Given the description of an element on the screen output the (x, y) to click on. 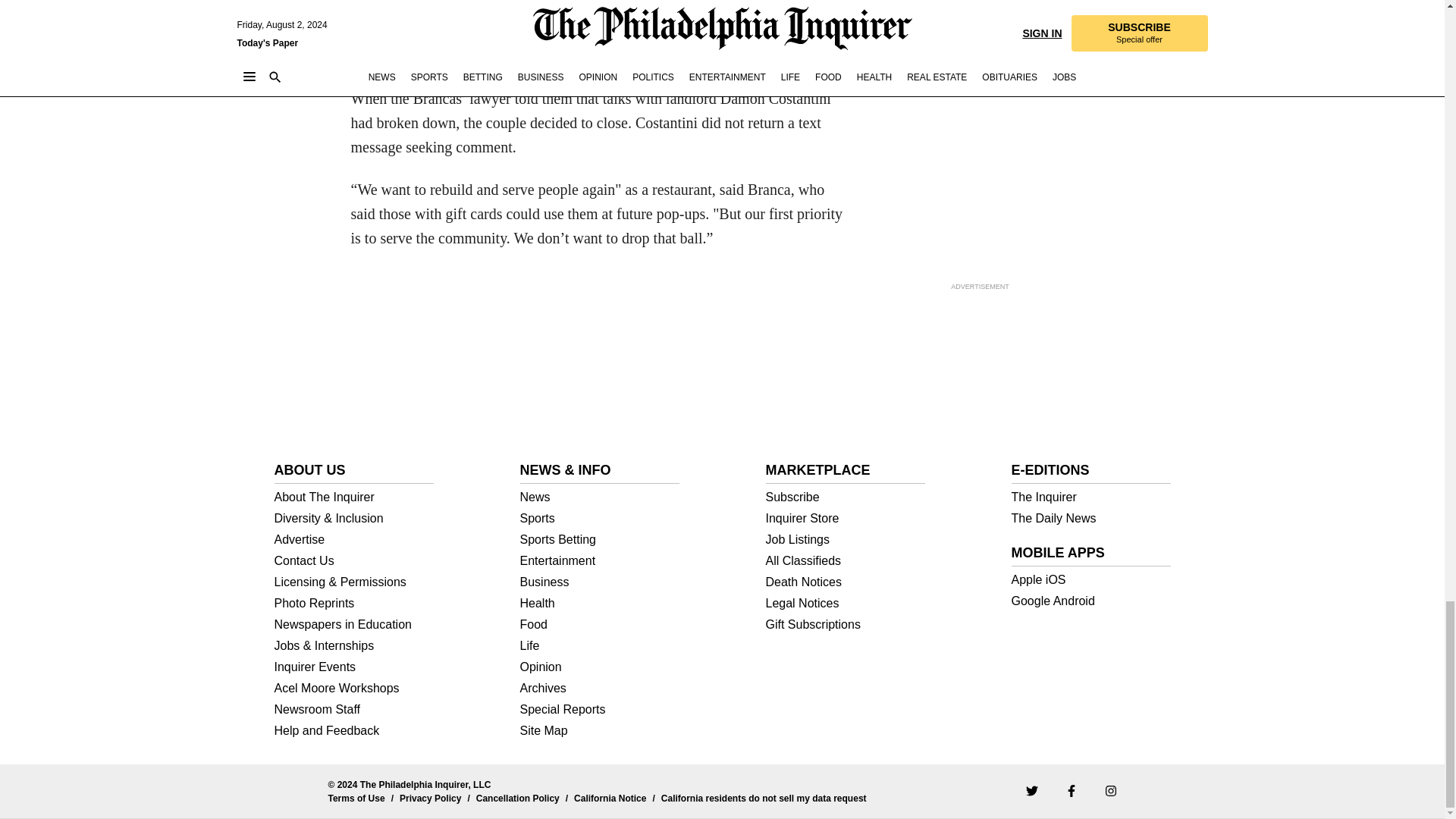
Twitter (1030, 790)
Facebook (1070, 790)
Instagram (1109, 790)
